Given the description of an element on the screen output the (x, y) to click on. 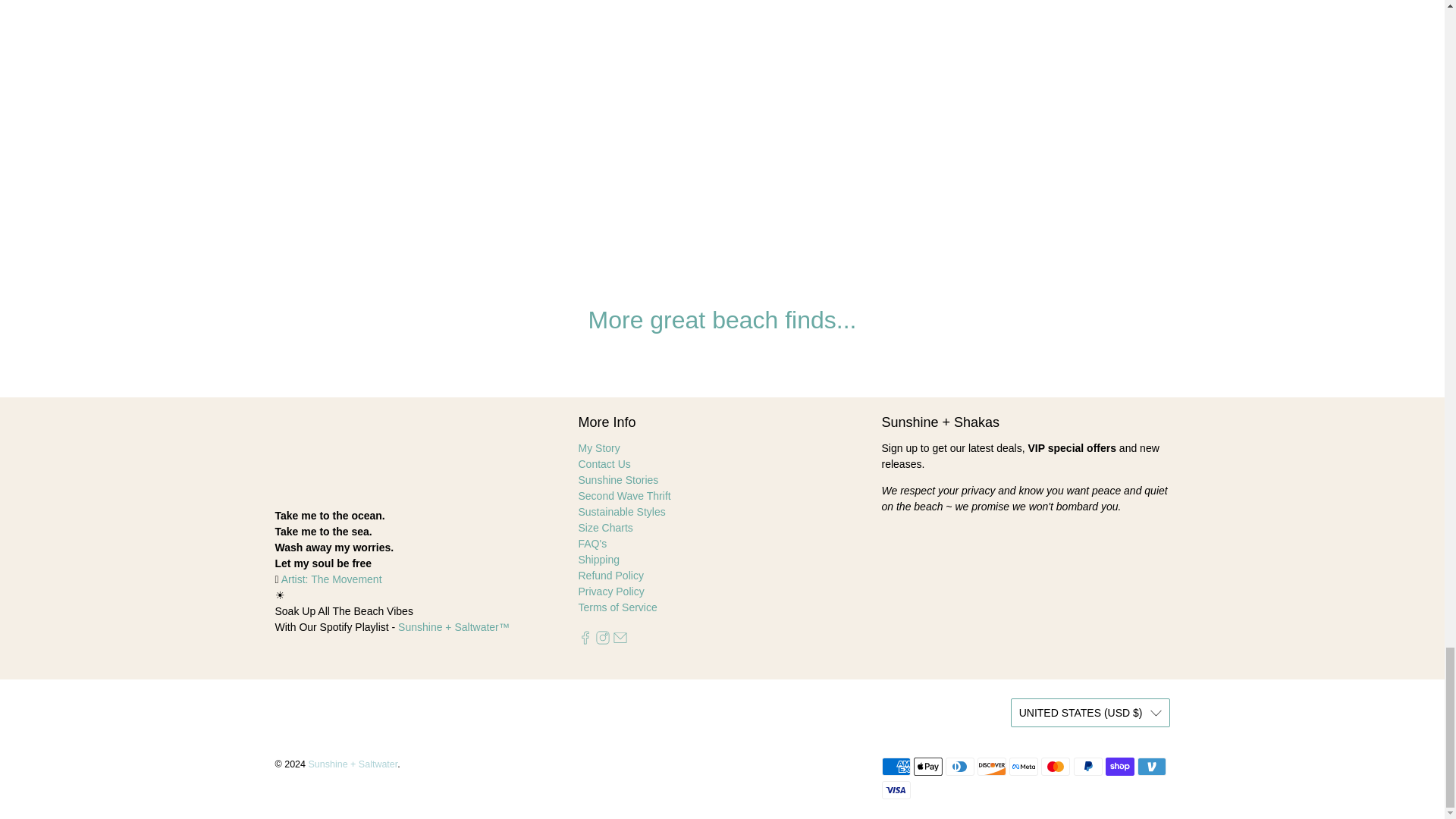
Mastercard (1055, 766)
Venmo (1151, 766)
Visa (895, 790)
Shop Pay (1119, 766)
Apple Pay (928, 766)
American Express (895, 766)
Diners Club (959, 766)
PayPal (1088, 766)
Discover (991, 766)
Meta Pay (1023, 766)
